Given the description of an element on the screen output the (x, y) to click on. 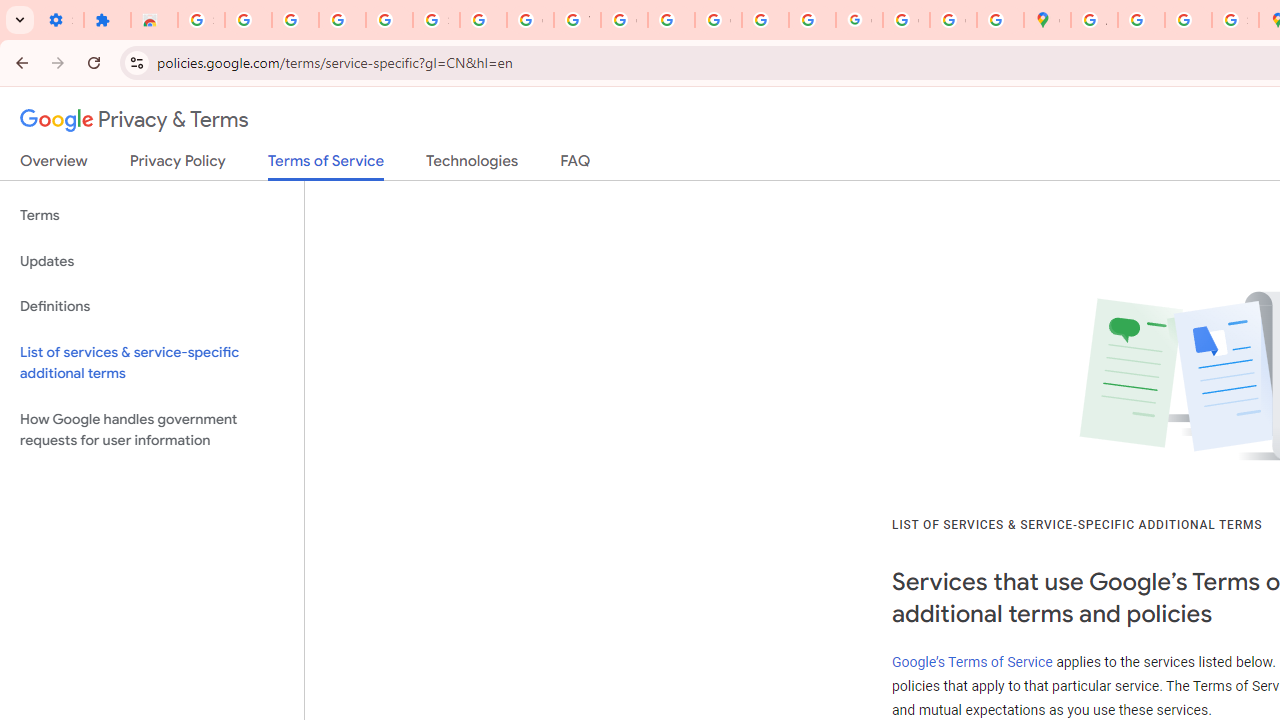
Safety in Our Products - Google Safety Center (1235, 20)
Google Account (530, 20)
Sign in - Google Accounts (201, 20)
Sign in - Google Accounts (436, 20)
https://scholar.google.com/ (671, 20)
Google Maps (1047, 20)
